Given the description of an element on the screen output the (x, y) to click on. 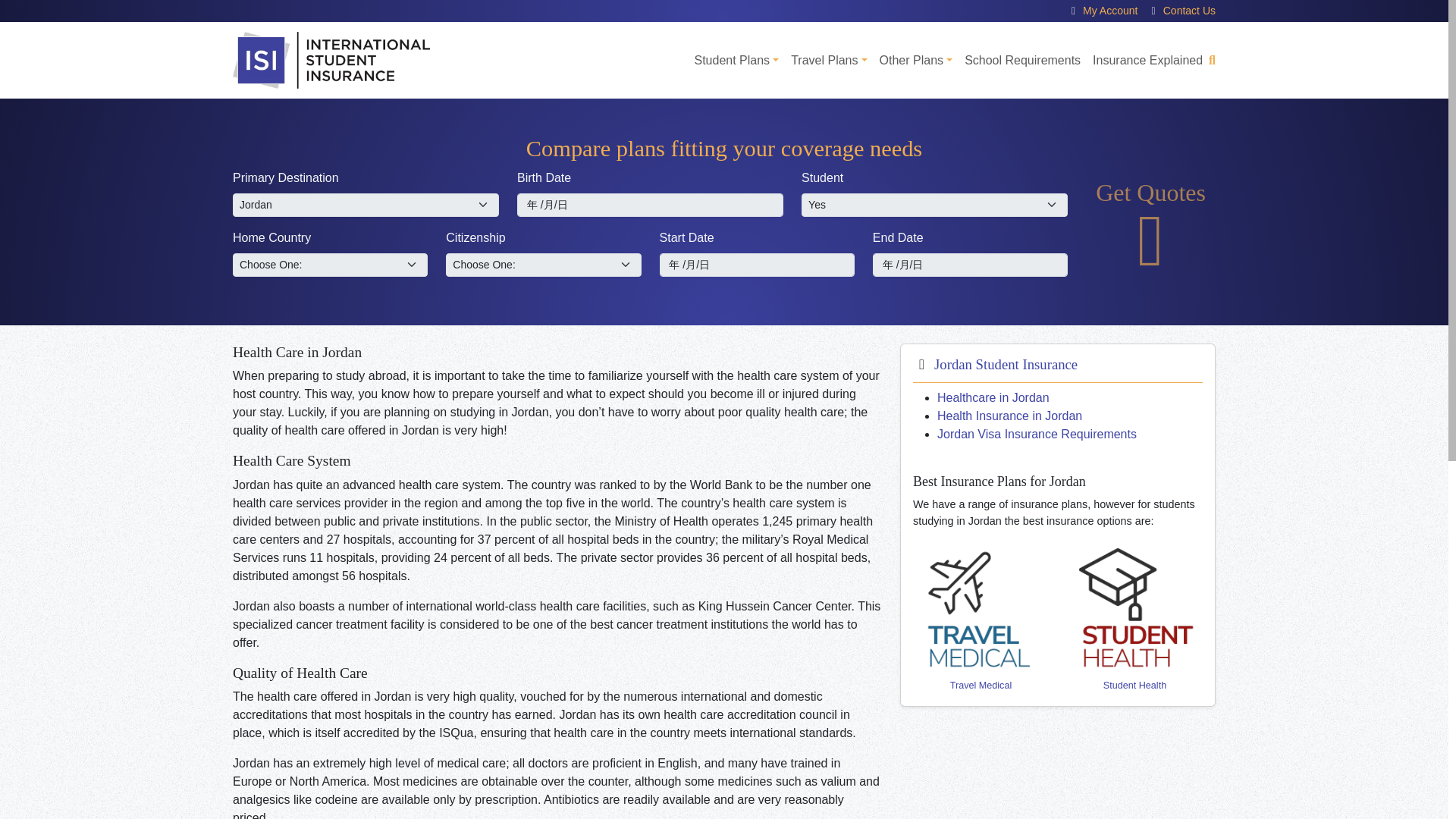
Healthcare in Jordan (993, 397)
Travel Plans (828, 60)
Health Insurance in Jordan (1009, 415)
Are you a student? (934, 205)
Jordan Student Insurance (1005, 364)
Student Health Insurance (1134, 646)
Jordan Visa Insurance Requirements (1037, 433)
Get Quotes (1150, 228)
Travel Medical (980, 646)
Contact Us (1189, 10)
